Given the description of an element on the screen output the (x, y) to click on. 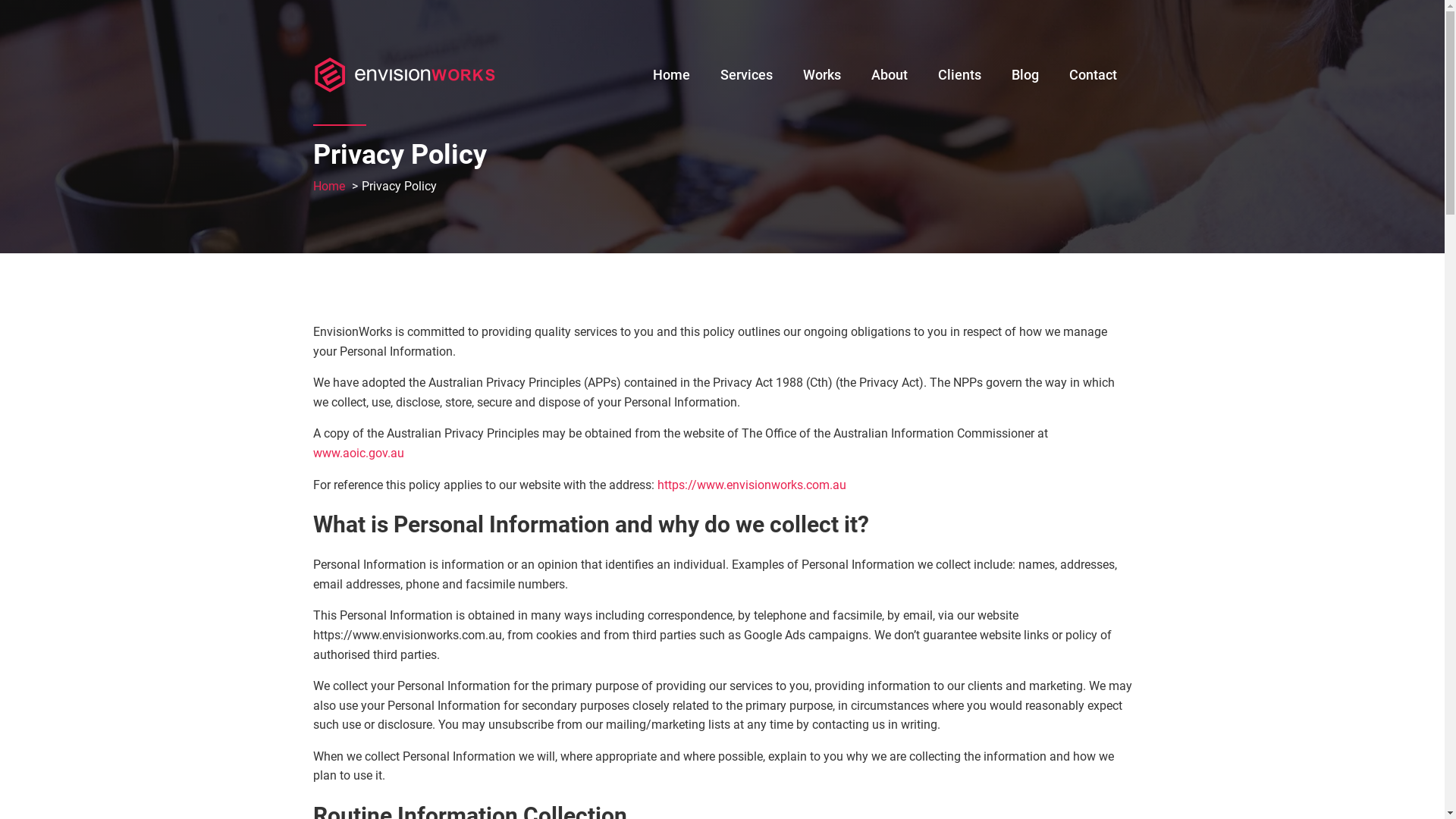
Works Element type: text (821, 71)
www.aoic.gov.au Element type: text (357, 452)
Home Element type: text (670, 71)
Clients Element type: text (958, 71)
Services Element type: text (746, 71)
Blog Element type: text (1024, 71)
Contact Element type: text (1093, 71)
About Element type: text (888, 71)
https://www.envisionworks.com.au Element type: text (749, 484)
Home Element type: text (328, 185)
